Given the description of an element on the screen output the (x, y) to click on. 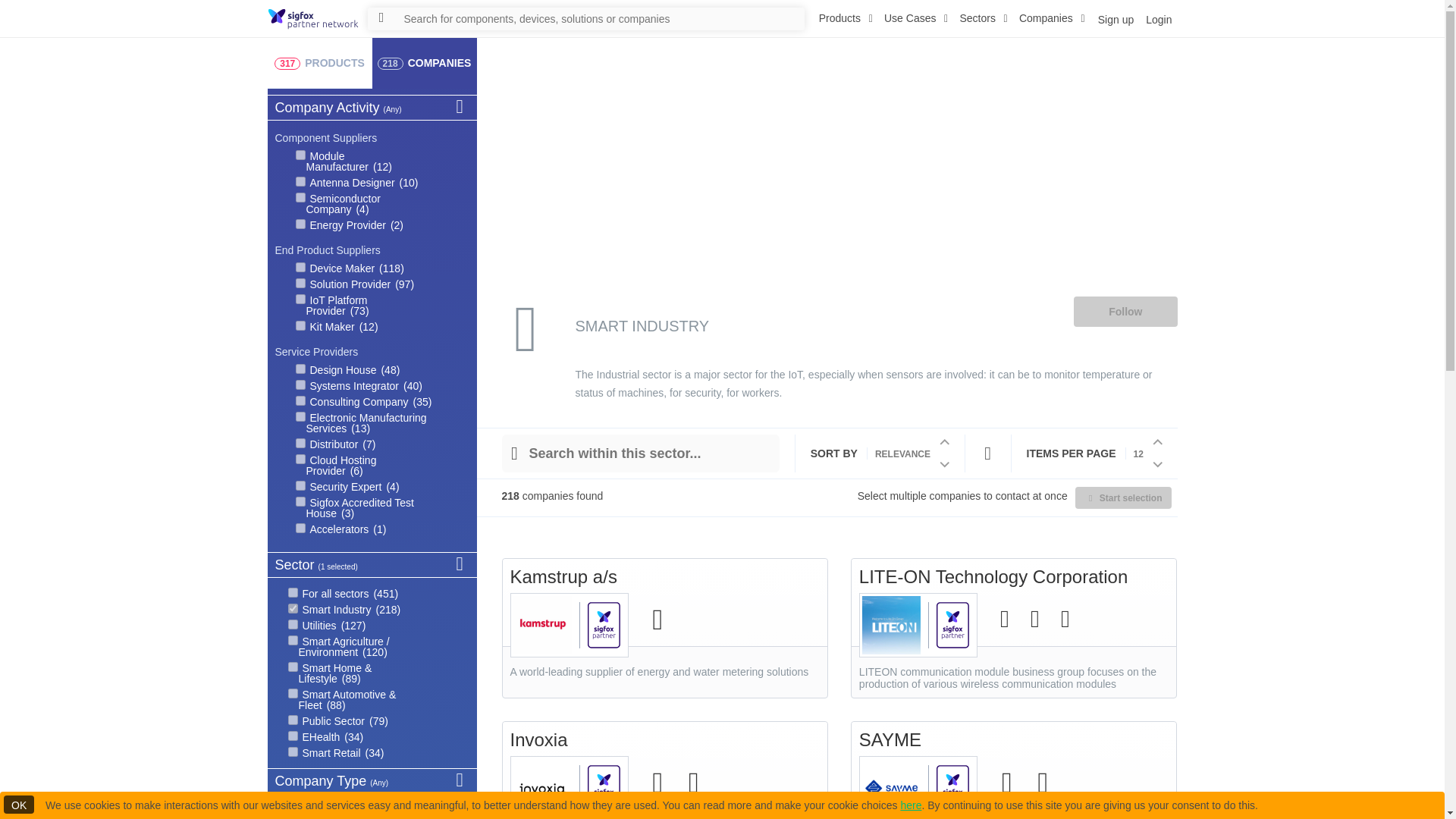
on (300, 283)
on (300, 459)
on (293, 592)
Products (846, 18)
on (300, 266)
on (300, 298)
on (300, 197)
Login (1157, 18)
on (300, 442)
on (300, 416)
